Given the description of an element on the screen output the (x, y) to click on. 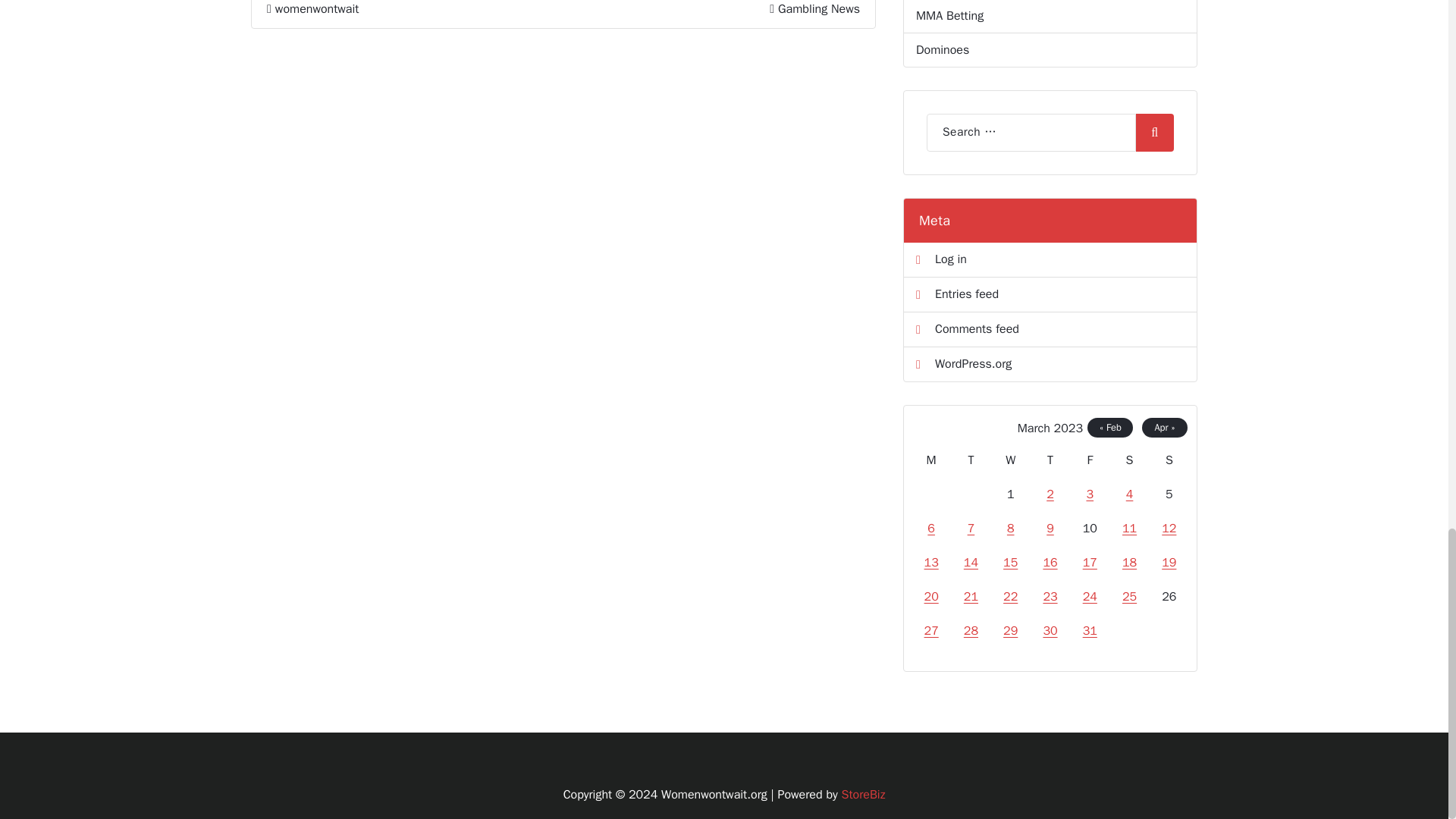
Thursday (1050, 460)
womenwontwait (312, 9)
Wednesday (1010, 460)
Sunday (1169, 460)
Monday (930, 460)
Tuesday (970, 460)
Gambling News (818, 8)
womenwontwait (312, 9)
Saturday (1128, 460)
Friday (1089, 460)
